Given the description of an element on the screen output the (x, y) to click on. 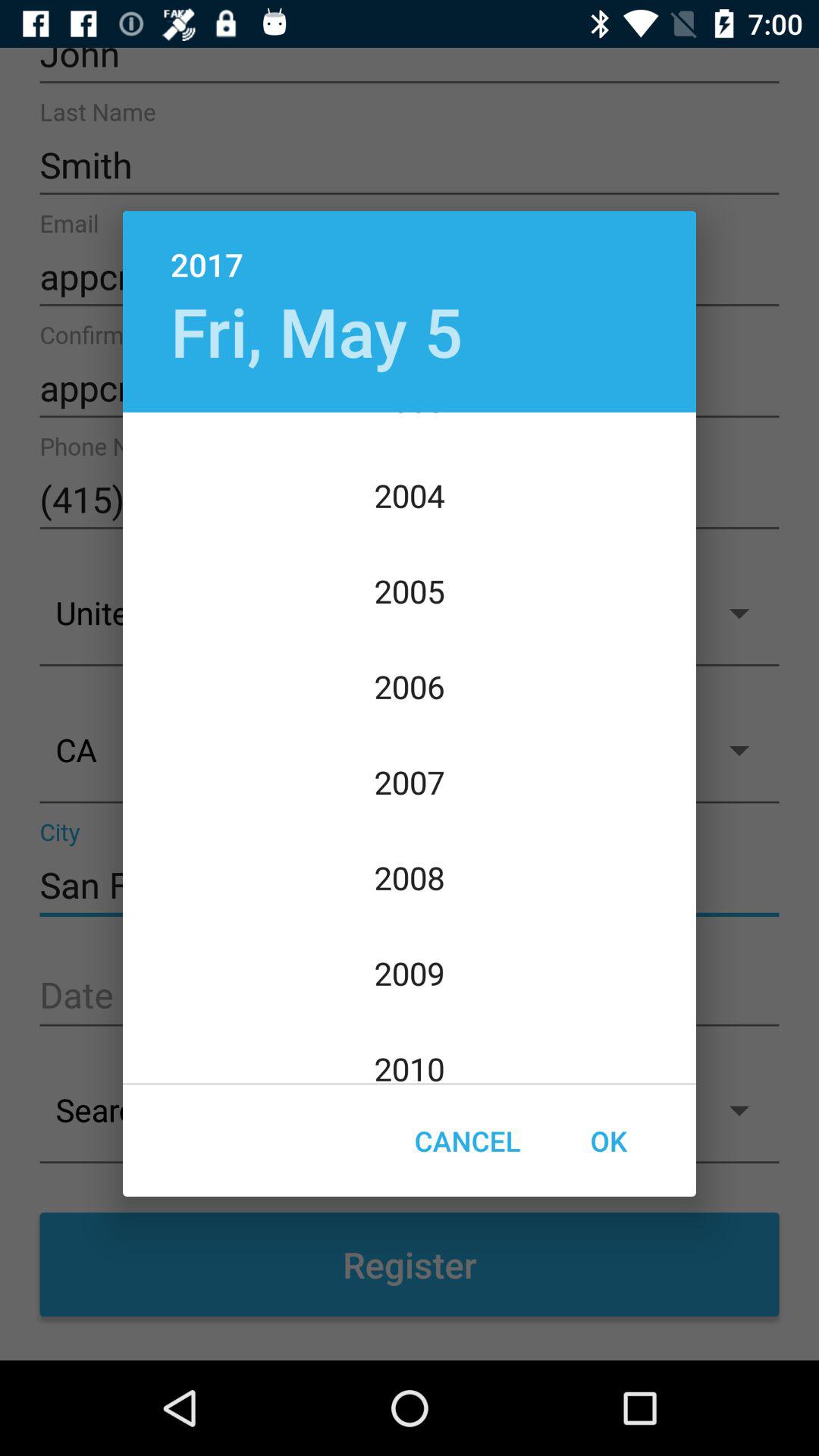
tap item next to the ok icon (467, 1140)
